Given the description of an element on the screen output the (x, y) to click on. 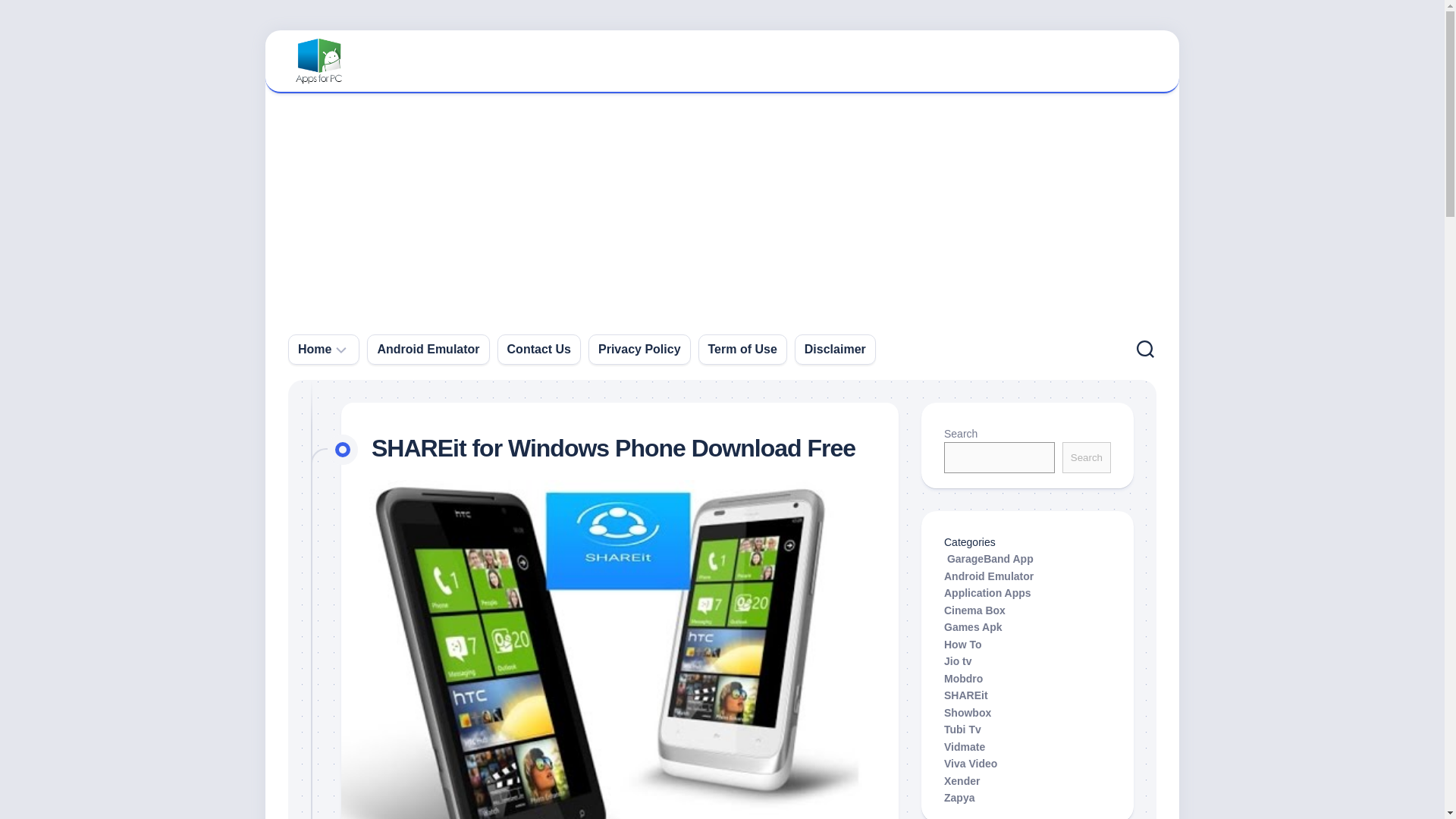
Android Emulator (428, 349)
Term of Use (742, 349)
Disclaimer (835, 349)
Home (314, 349)
Privacy Policy (639, 349)
Contact Us (538, 349)
